Given the description of an element on the screen output the (x, y) to click on. 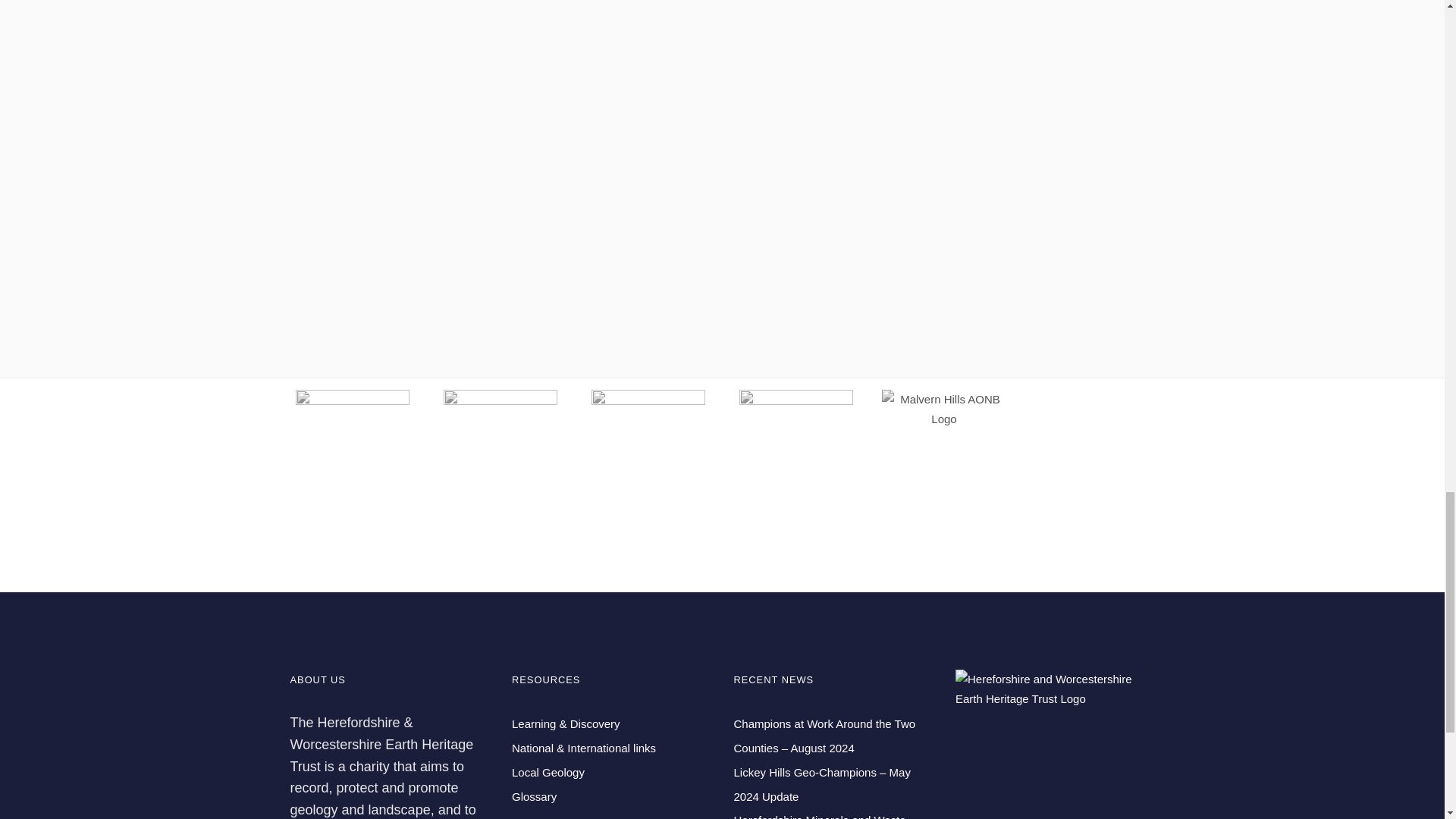
worcestershire-county-council-logo (647, 446)
national-heritage-fund (352, 446)
herefordshire-council (796, 446)
university-worcester-logo (500, 446)
malvern-hills-aonb (943, 408)
